Given the description of an element on the screen output the (x, y) to click on. 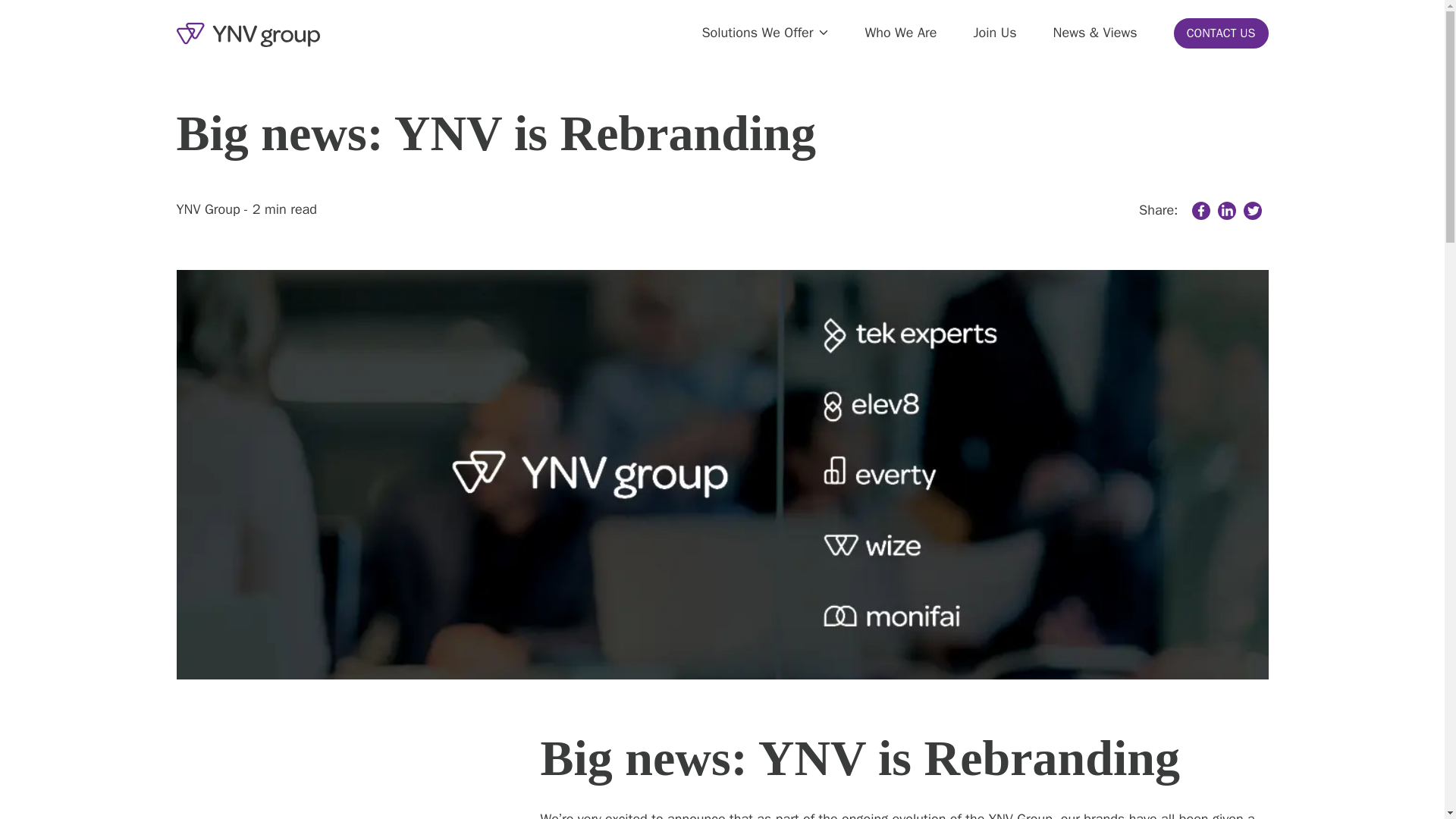
YNV Group - 2 min read (246, 210)
CONTACT US (1220, 33)
Solutions We Offer (764, 33)
Big news: YNV is Rebranding (722, 132)
Who We Are (900, 33)
Share: (1161, 210)
